Given the description of an element on the screen output the (x, y) to click on. 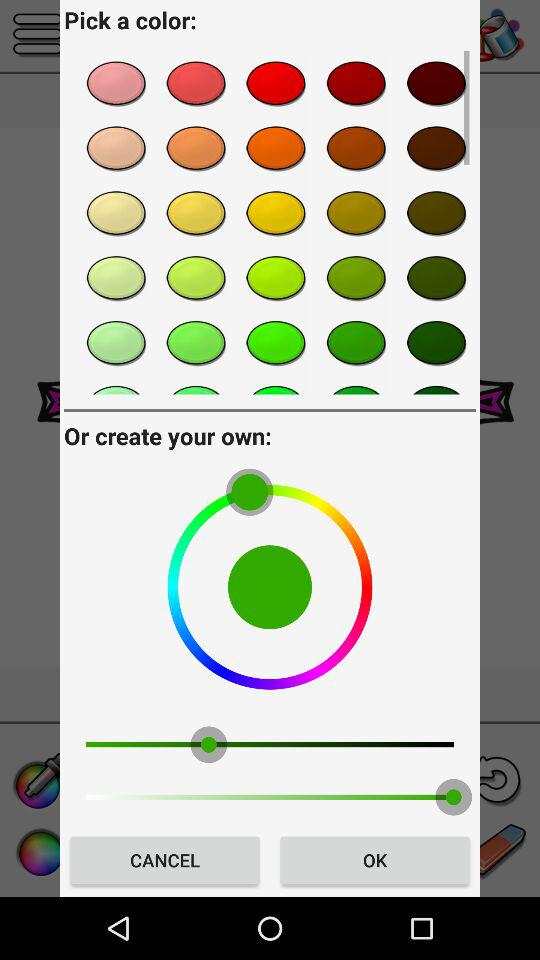
click the icon to the left of the ok item (164, 859)
